Given the description of an element on the screen output the (x, y) to click on. 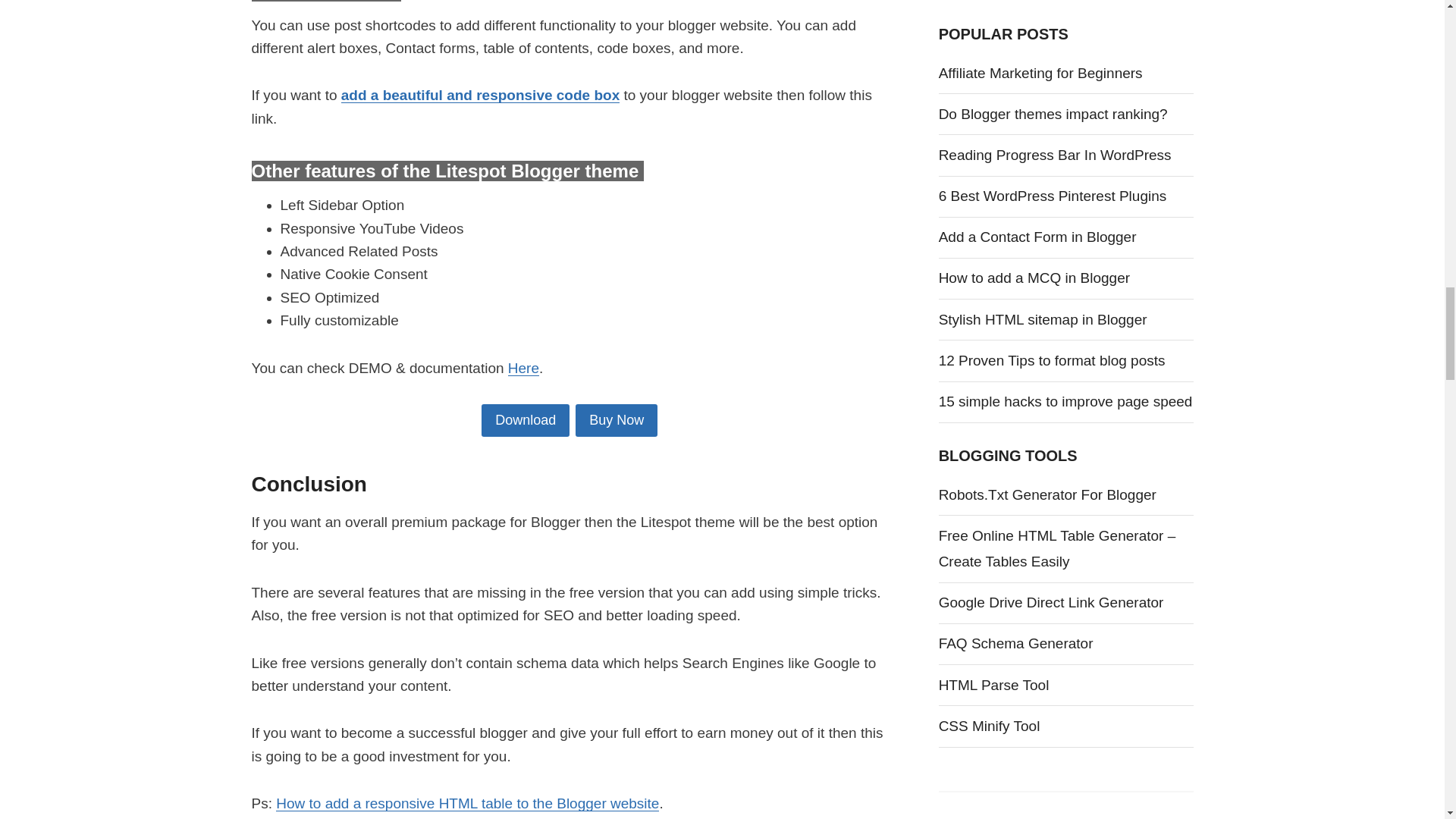
How to add a responsive HTML table to the Blogger website (467, 803)
Here (523, 367)
Buy Now (616, 420)
Download (525, 420)
add a beautiful and responsive code box (480, 94)
